Given the description of an element on the screen output the (x, y) to click on. 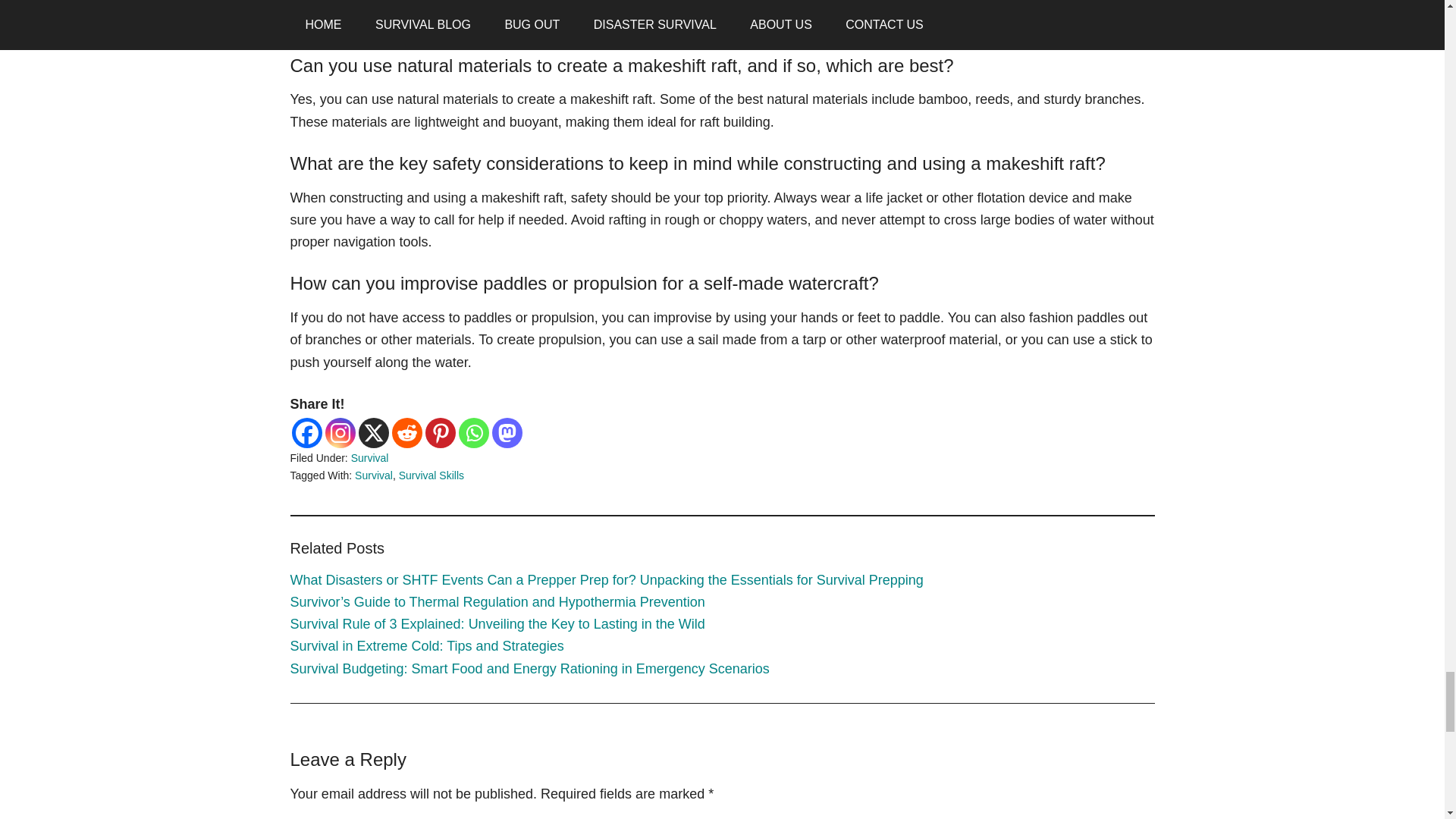
Pinterest (439, 432)
Whatsapp (472, 432)
Mastodon (506, 432)
Reddit (406, 432)
Survival (369, 458)
Instagram (339, 432)
X (373, 432)
Facebook (306, 432)
Survival (374, 475)
Survival Skills (431, 475)
